Given the description of an element on the screen output the (x, y) to click on. 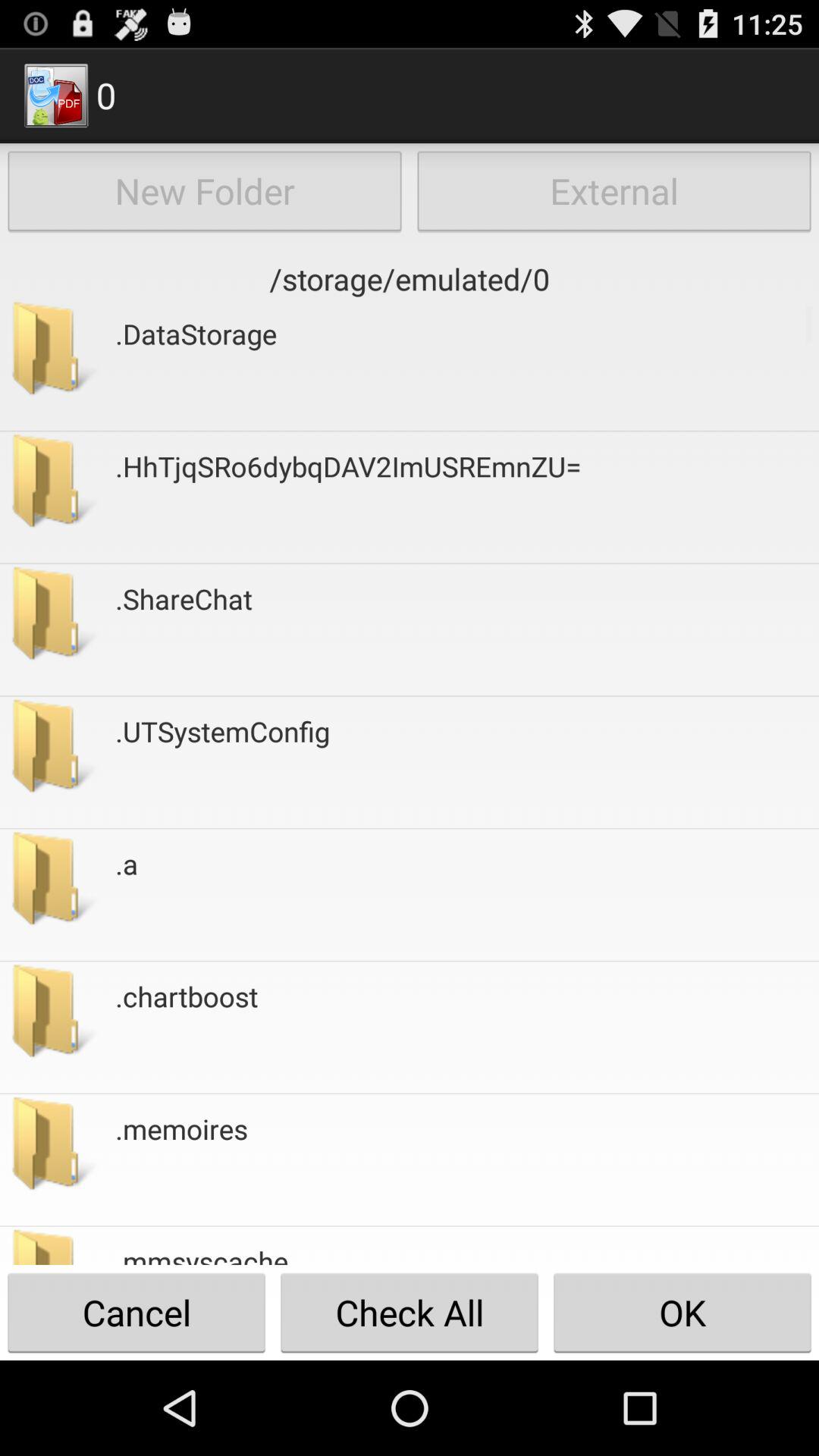
launch the button to the right of new folder icon (614, 190)
